Given the description of an element on the screen output the (x, y) to click on. 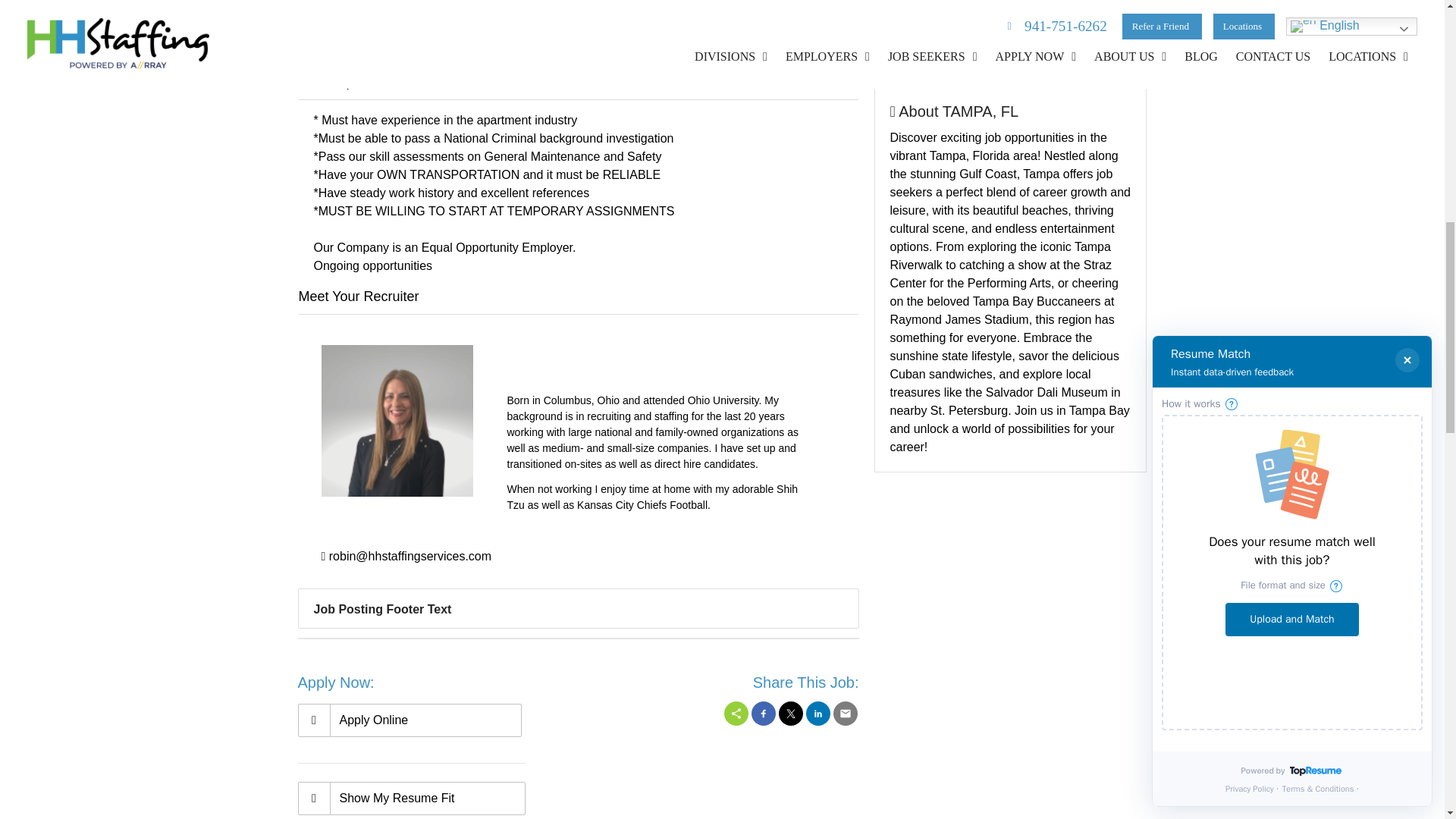
click to email (406, 556)
Match (410, 798)
